Given the description of an element on the screen output the (x, y) to click on. 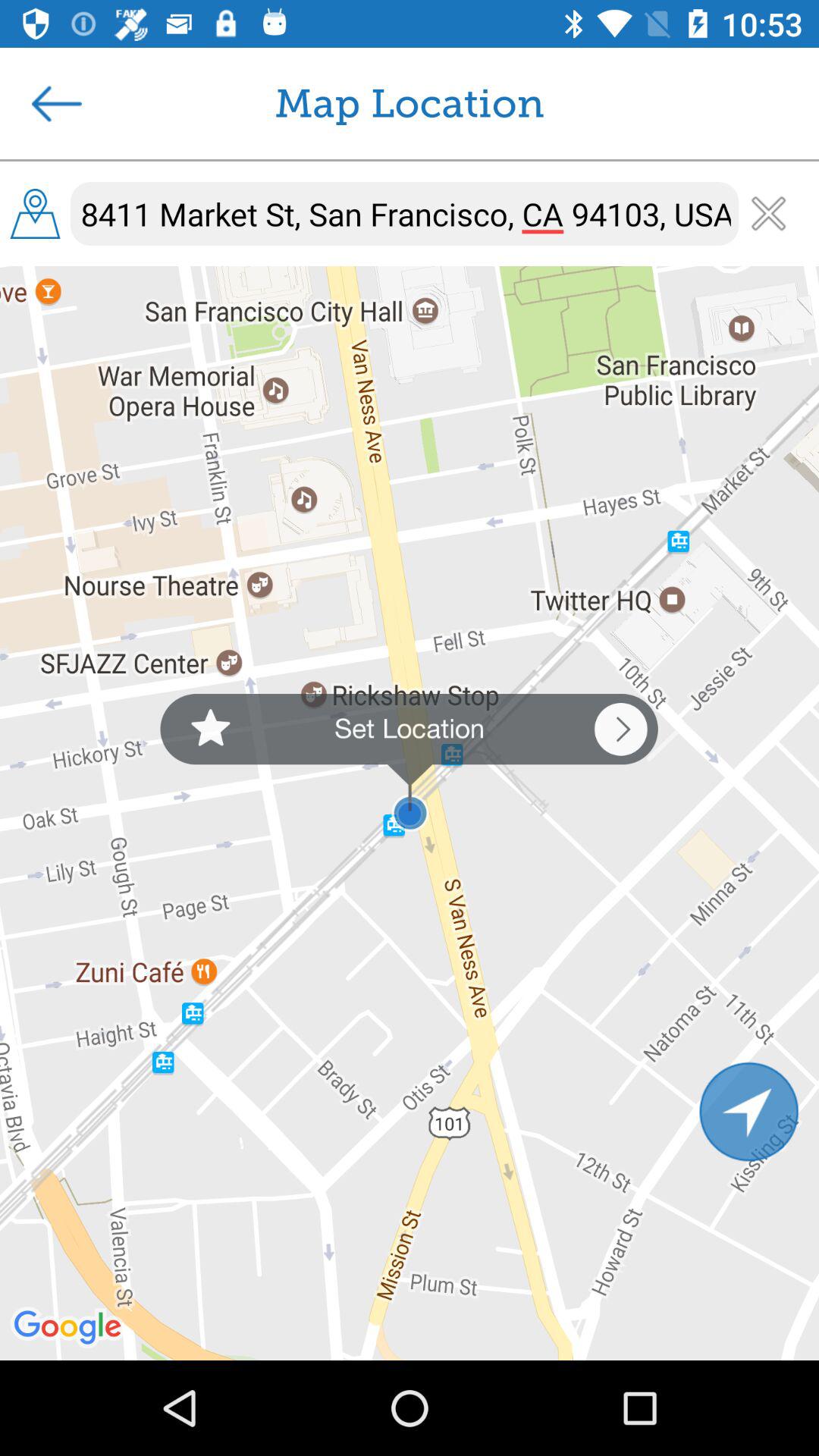
go back (56, 103)
